Given the description of an element on the screen output the (x, y) to click on. 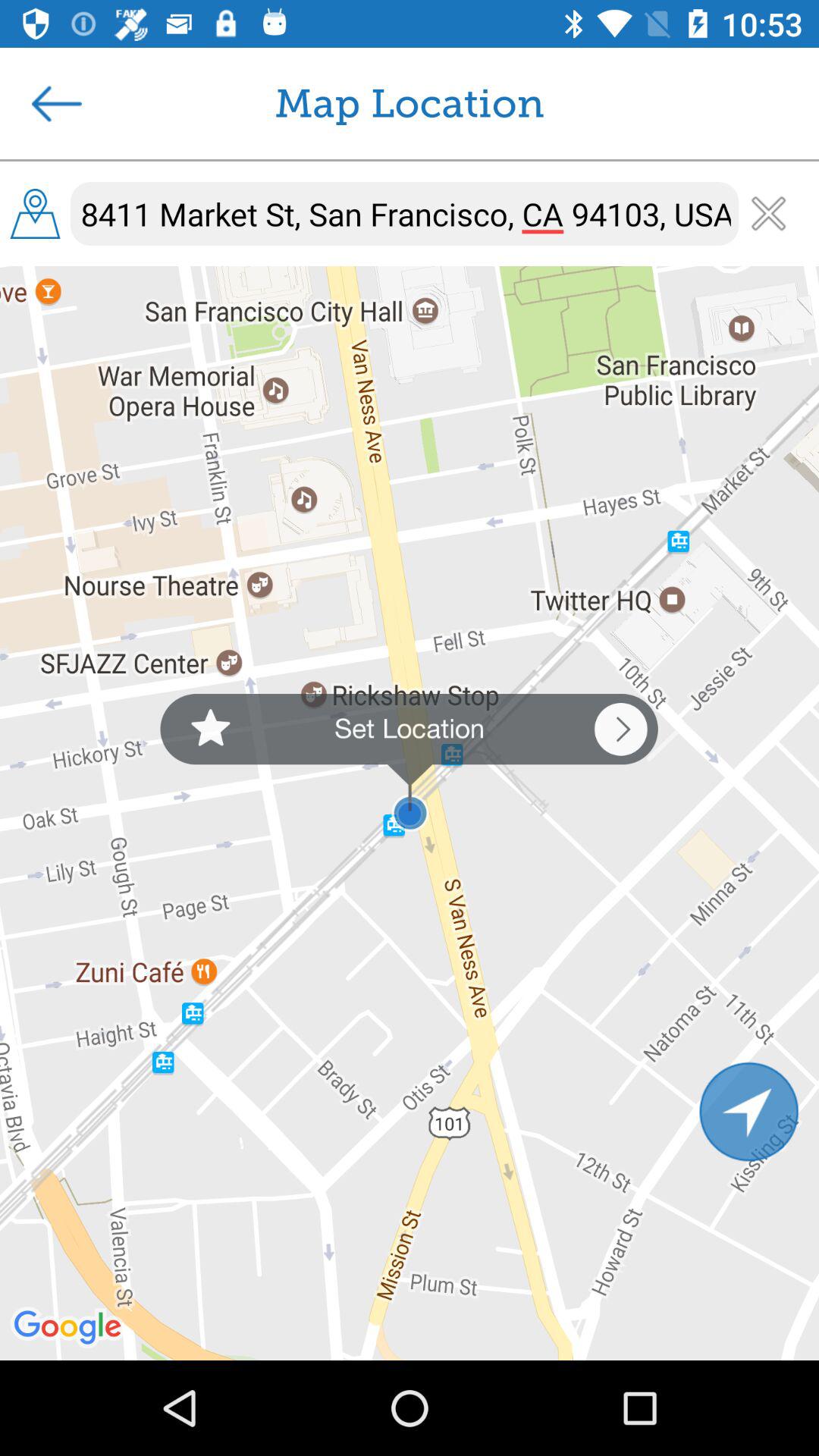
go back (56, 103)
